Given the description of an element on the screen output the (x, y) to click on. 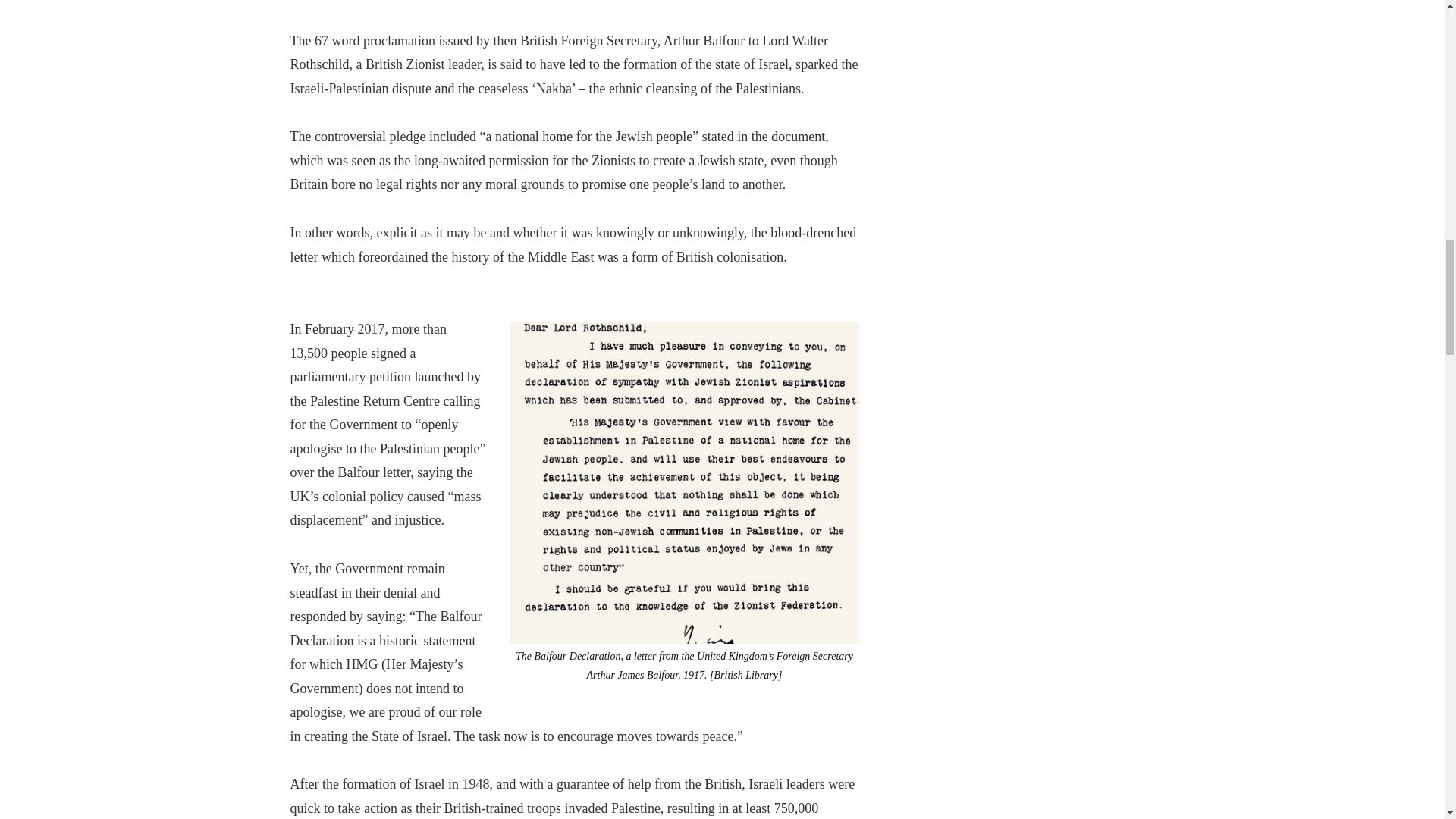
Igal Feigin (684, 482)
